Given the description of an element on the screen output the (x, y) to click on. 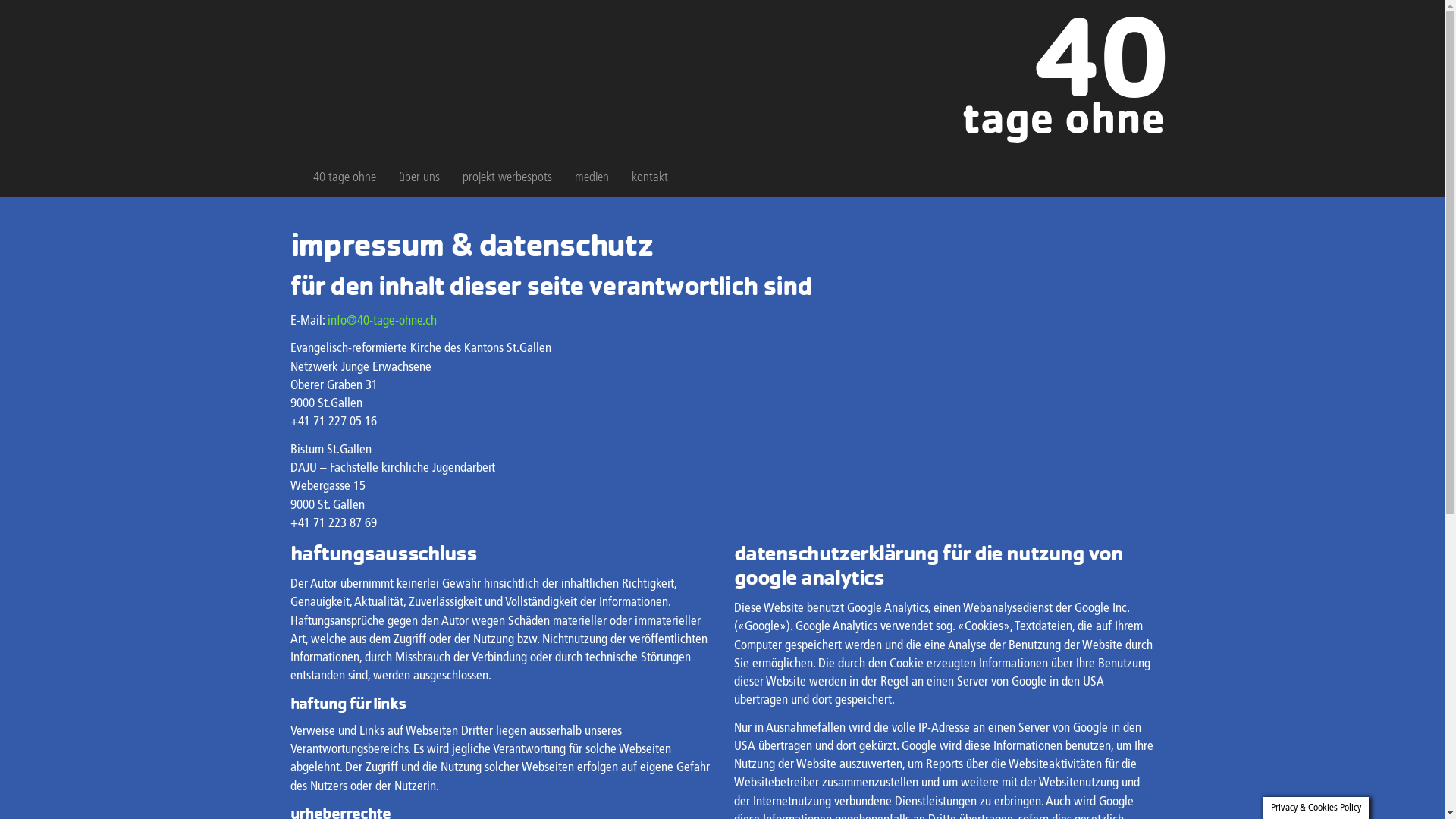
info@40-tage-ohne.ch Element type: text (381, 320)
40 tage ohne Element type: text (344, 178)
medien Element type: text (590, 178)
projekt werbespots Element type: text (506, 178)
kontakt Element type: text (649, 178)
